Given the description of an element on the screen output the (x, y) to click on. 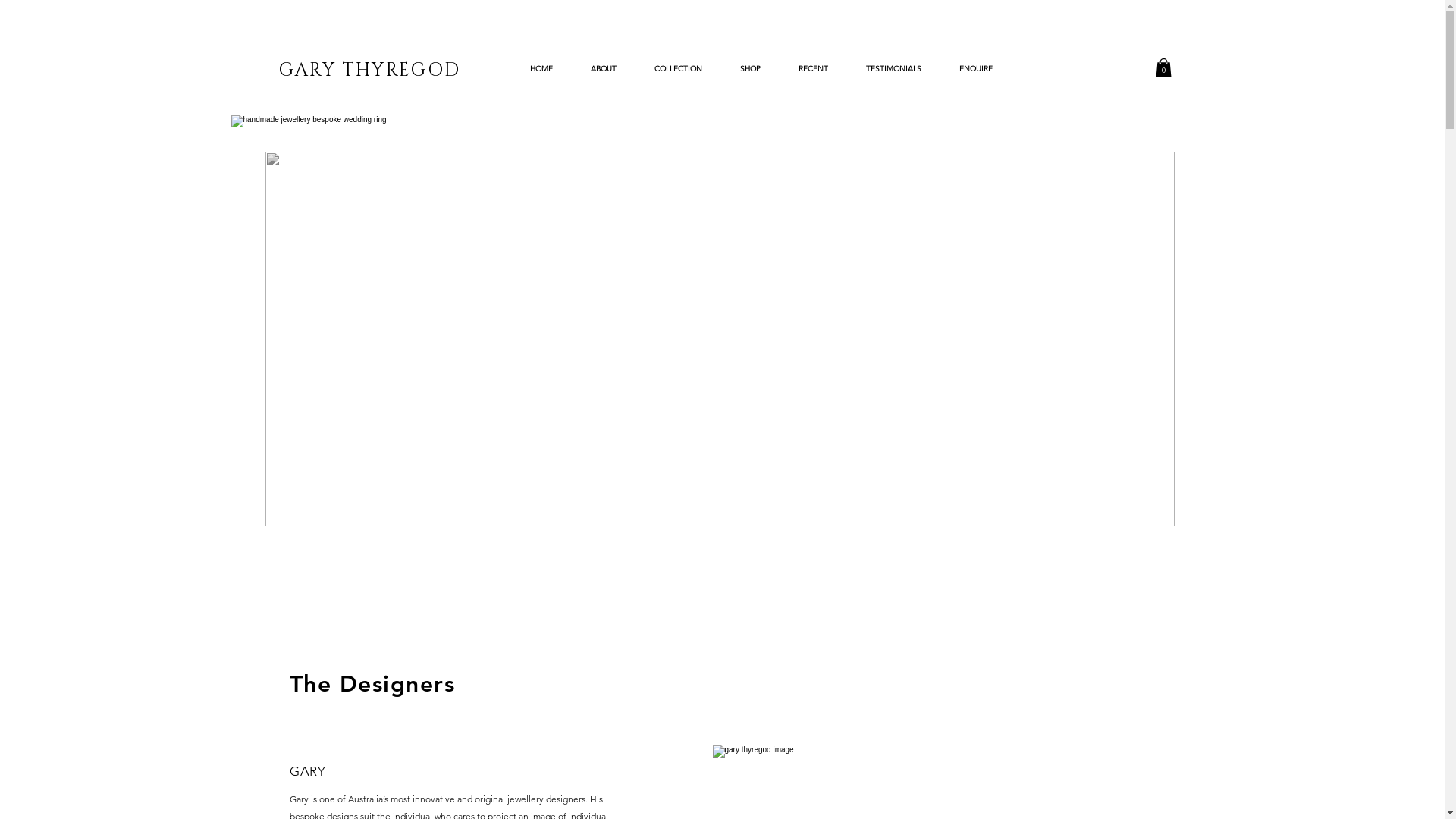
HOME Element type: text (541, 68)
ENQUIRE Element type: text (975, 68)
0 Element type: text (1163, 67)
SHOP Element type: text (749, 68)
TESTIMONIALS Element type: text (892, 68)
GARY THYREGOD Element type: text (370, 68)
ABOUT Element type: text (603, 68)
COLLECTION Element type: text (678, 68)
RECENT Element type: text (813, 68)
